Given the description of an element on the screen output the (x, y) to click on. 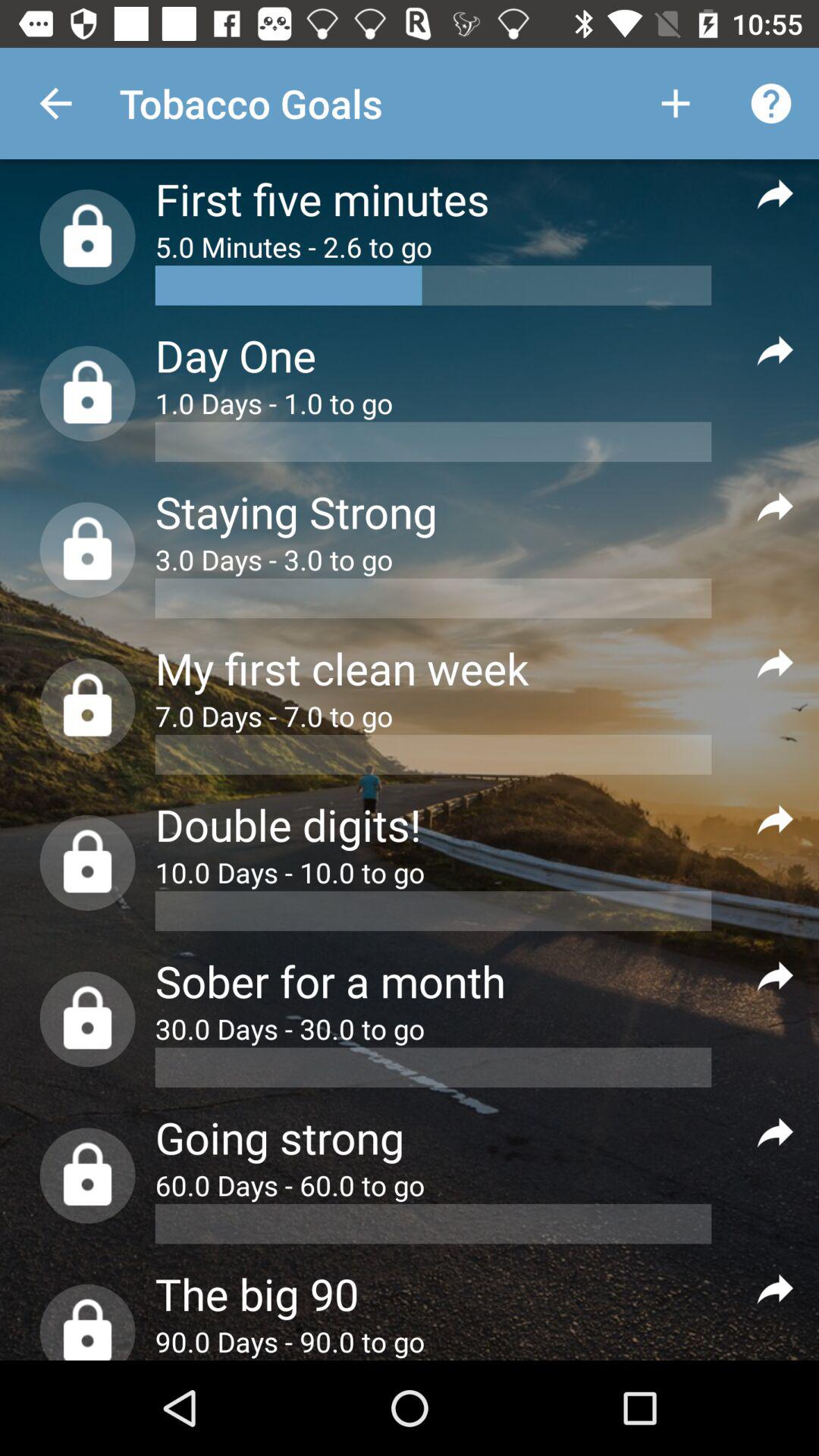
sharing a goal (775, 1131)
